Given the description of an element on the screen output the (x, y) to click on. 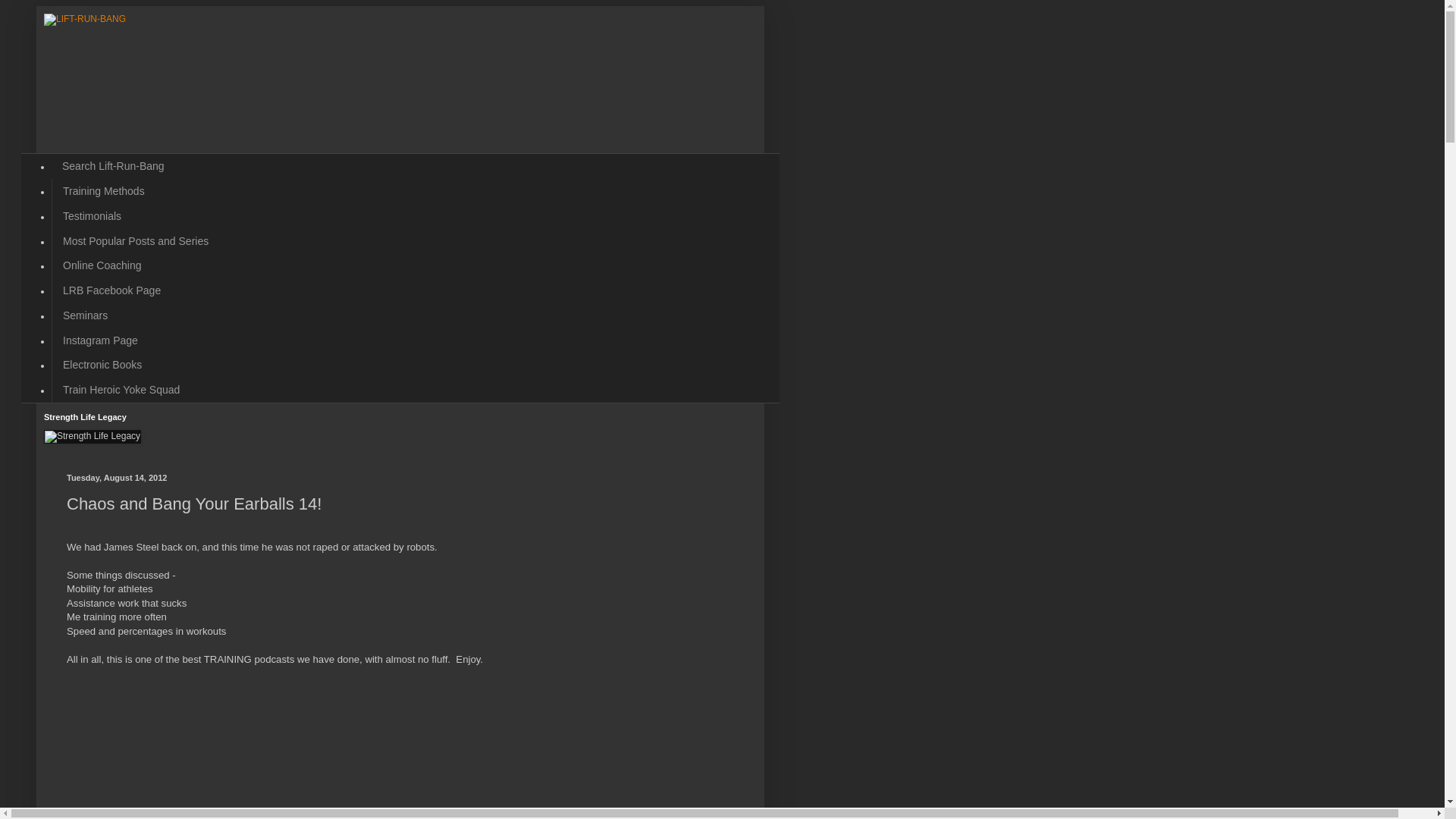
Testimonials (91, 215)
LRB Facebook Page (110, 290)
Most Popular Posts and Series (134, 240)
Train Heroic Yoke Squad (120, 389)
Electronic Books (101, 364)
Search Lift-Run-Bang (112, 166)
Online Coaching (101, 265)
Instagram Page (99, 339)
Training Methods (102, 191)
Seminars (83, 314)
